Given the description of an element on the screen output the (x, y) to click on. 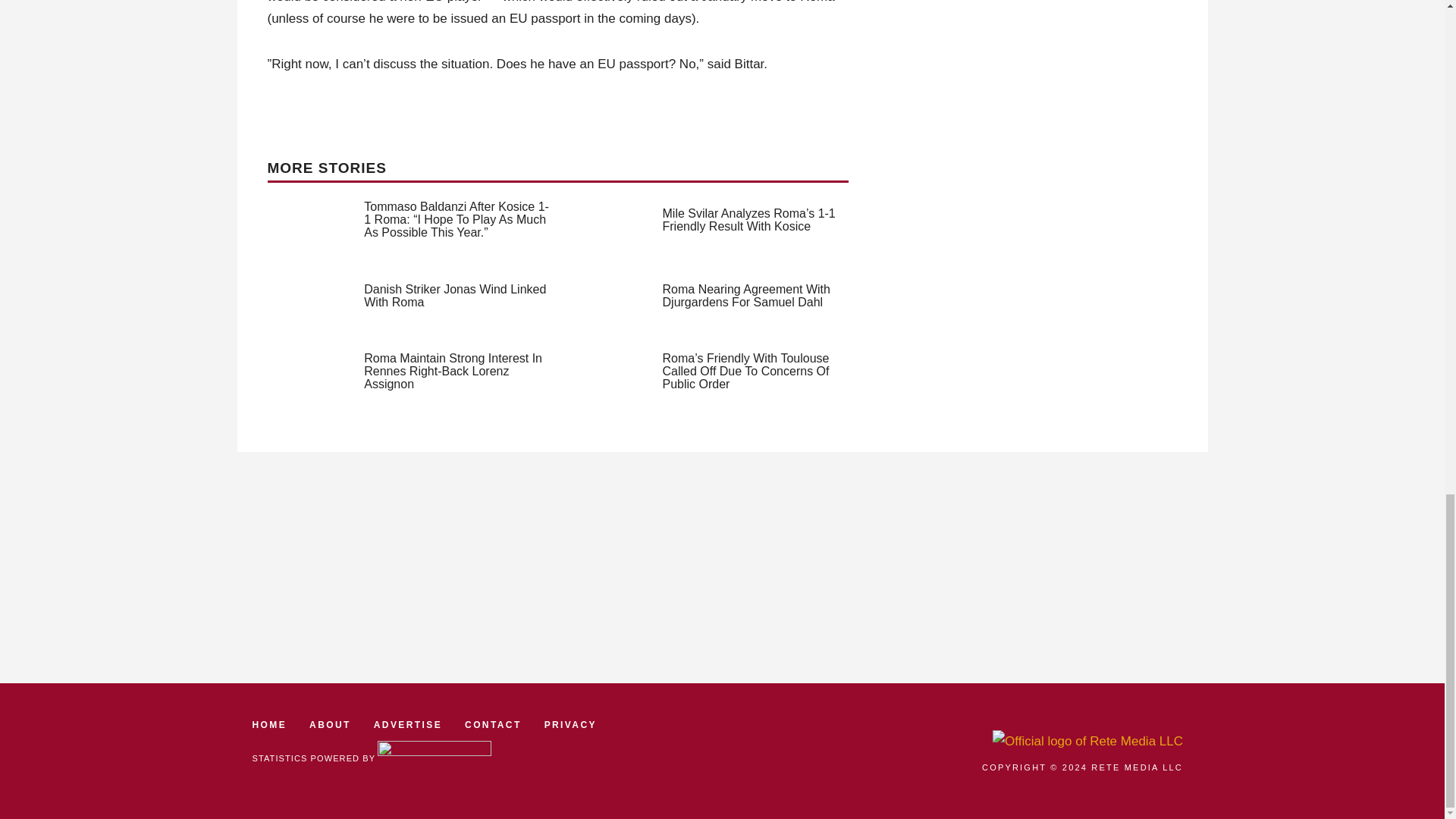
ABOUT (329, 725)
ADVERTISE (408, 725)
Roma Nearing Agreement With Djurgardens For Samuel Dahl (745, 295)
Danish Striker Jonas Wind Linked With Roma (455, 295)
HOME (268, 725)
CONTACT (492, 725)
PRIVACY (570, 725)
